Given the description of an element on the screen output the (x, y) to click on. 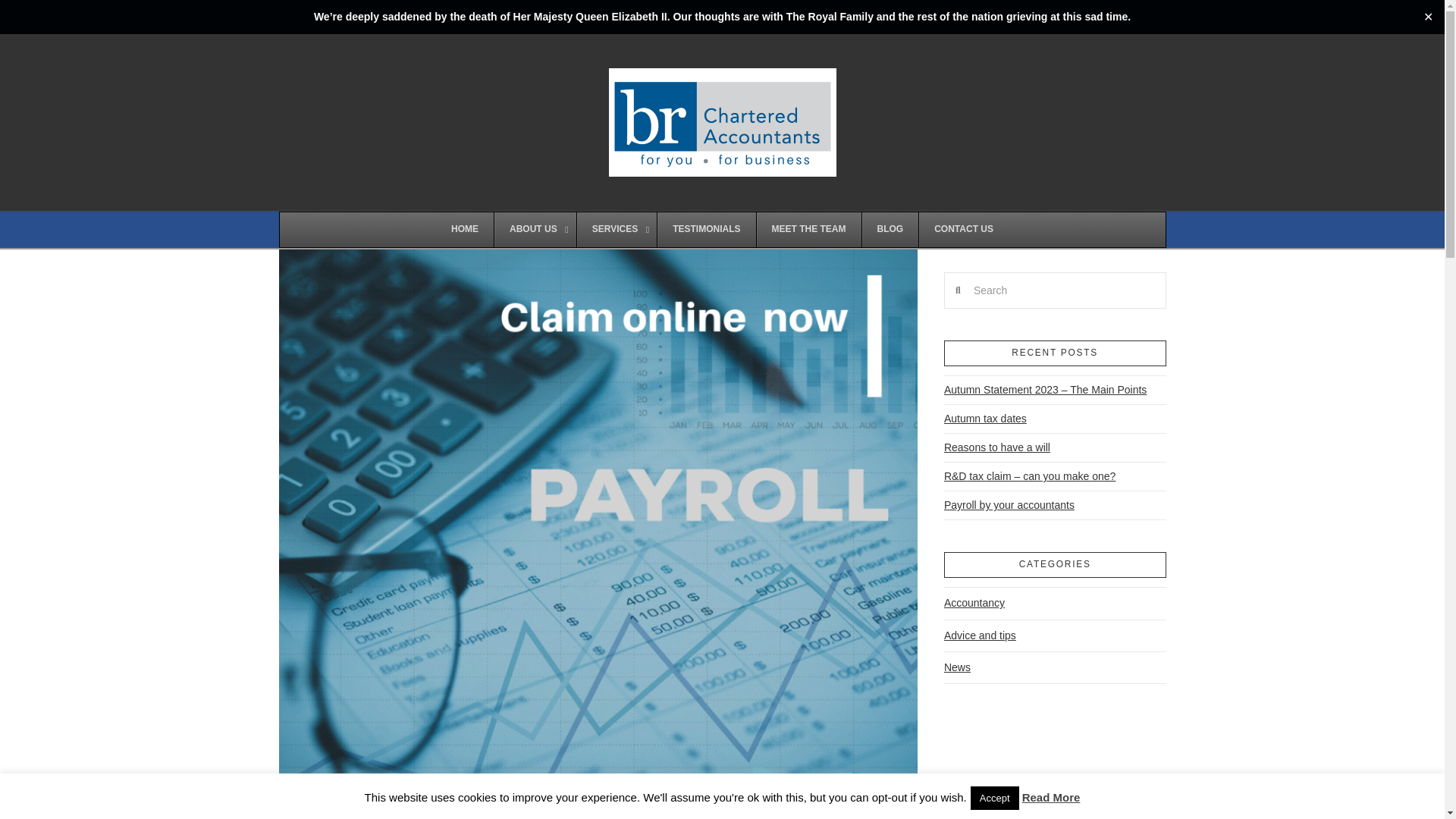
MEET THE TEAM (808, 229)
TESTIMONIALS (705, 229)
HOME (464, 229)
SERVICES (616, 229)
CONTACT US (963, 229)
BLOG (889, 229)
ABOUT US (534, 229)
